Given the description of an element on the screen output the (x, y) to click on. 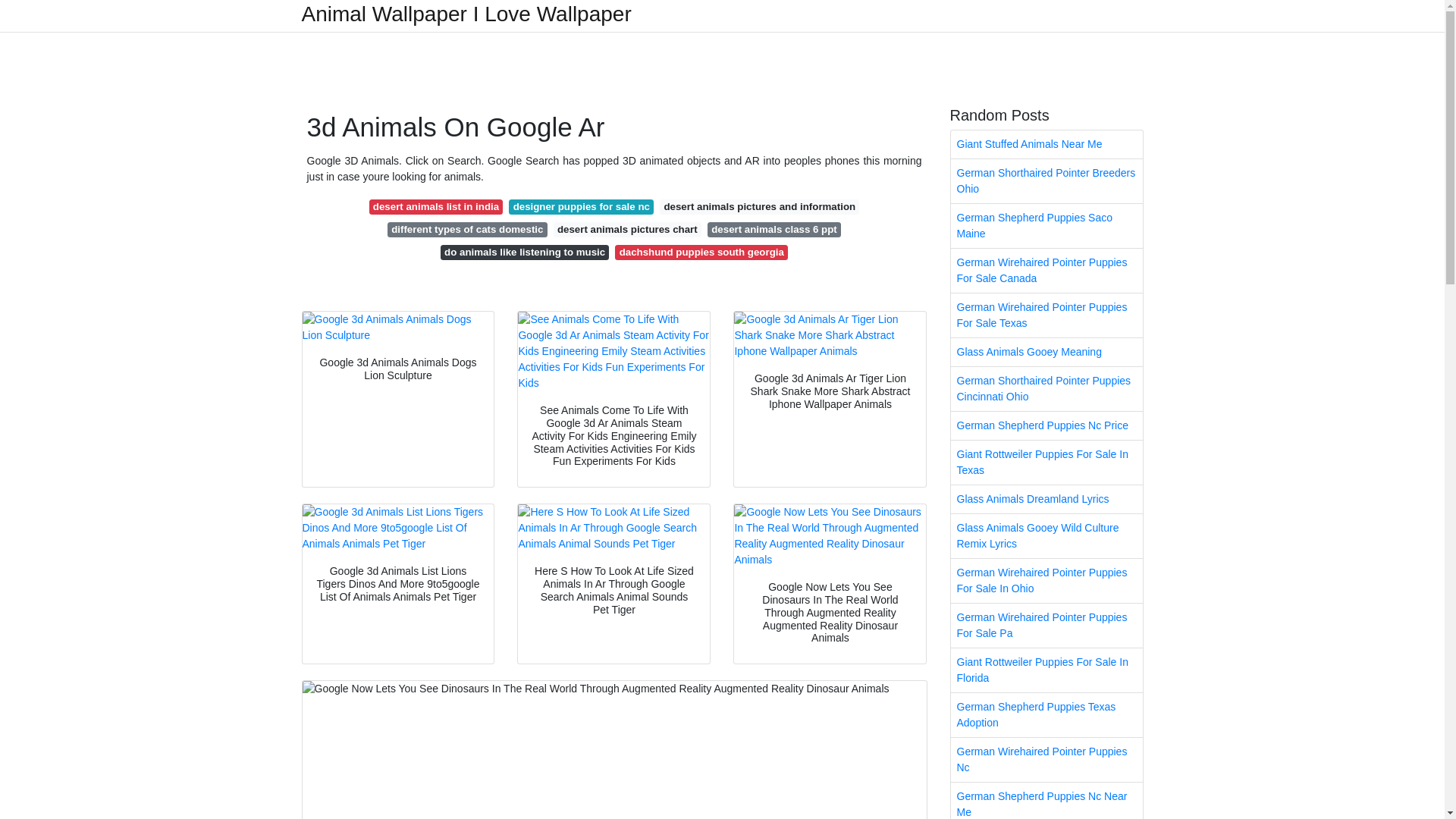
German Shepherd Puppies Saco Maine (1046, 225)
designer puppies for sale nc (580, 206)
Glass Animals Dreamland Lyrics (1046, 499)
Animal Wallpaper I Love Wallpaper (466, 13)
dachshund puppies south georgia (700, 252)
Giant Rottweiler Puppies For Sale In Texas (1046, 462)
German Shorthaired Pointer Puppies Cincinnati Ohio (1046, 388)
desert animals pictures and information (759, 206)
do animals like listening to music (525, 252)
German Wirehaired Pointer Puppies For Sale Canada (1046, 270)
